Given the description of an element on the screen output the (x, y) to click on. 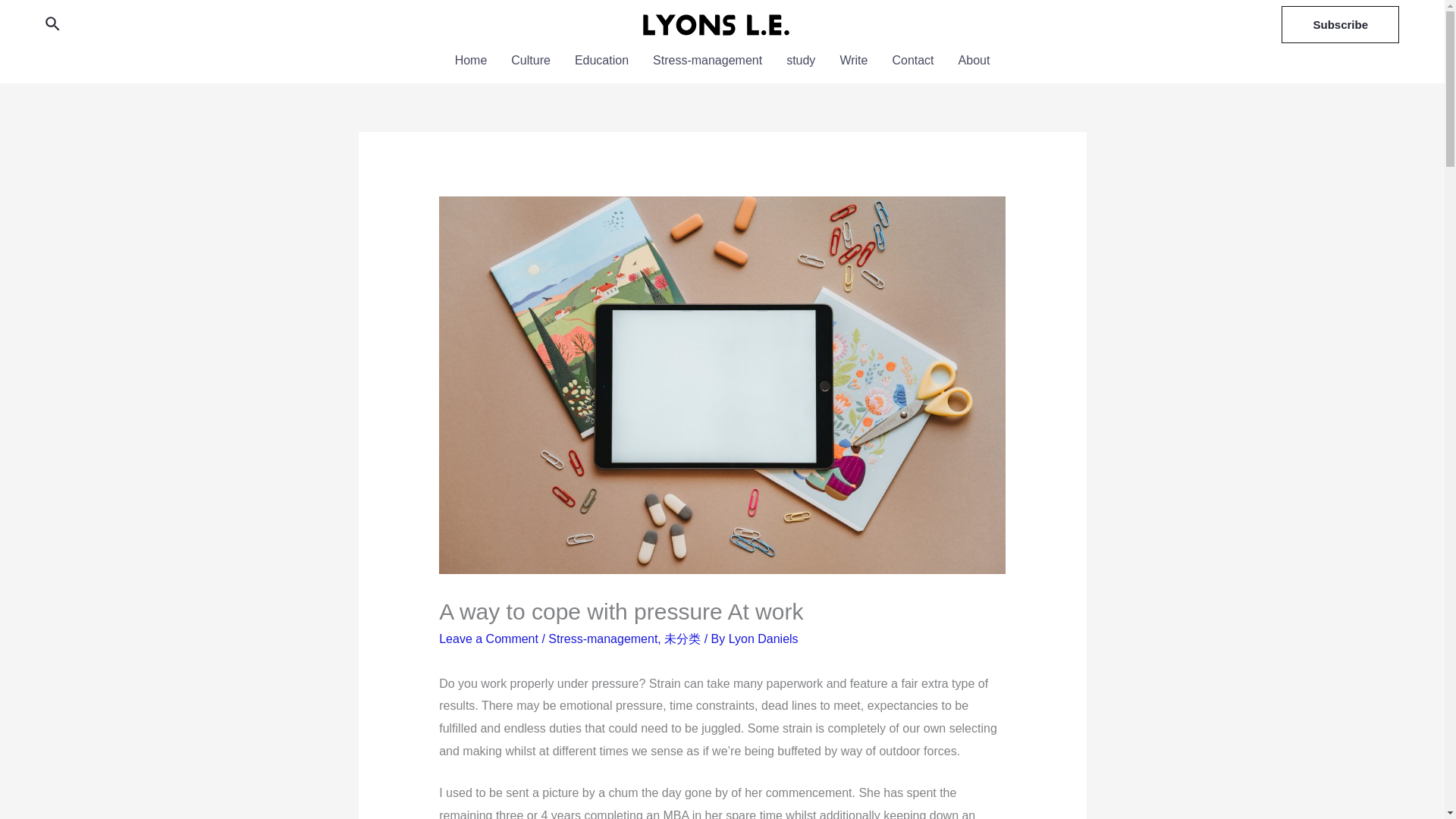
Subscribe (1340, 24)
study (800, 60)
Contact (911, 60)
Home (470, 60)
Write (853, 60)
View all posts by Lyon Daniels (763, 638)
Leave a Comment (488, 638)
Culture (530, 60)
Stress-management (603, 638)
Lyon Daniels (763, 638)
